Given the description of an element on the screen output the (x, y) to click on. 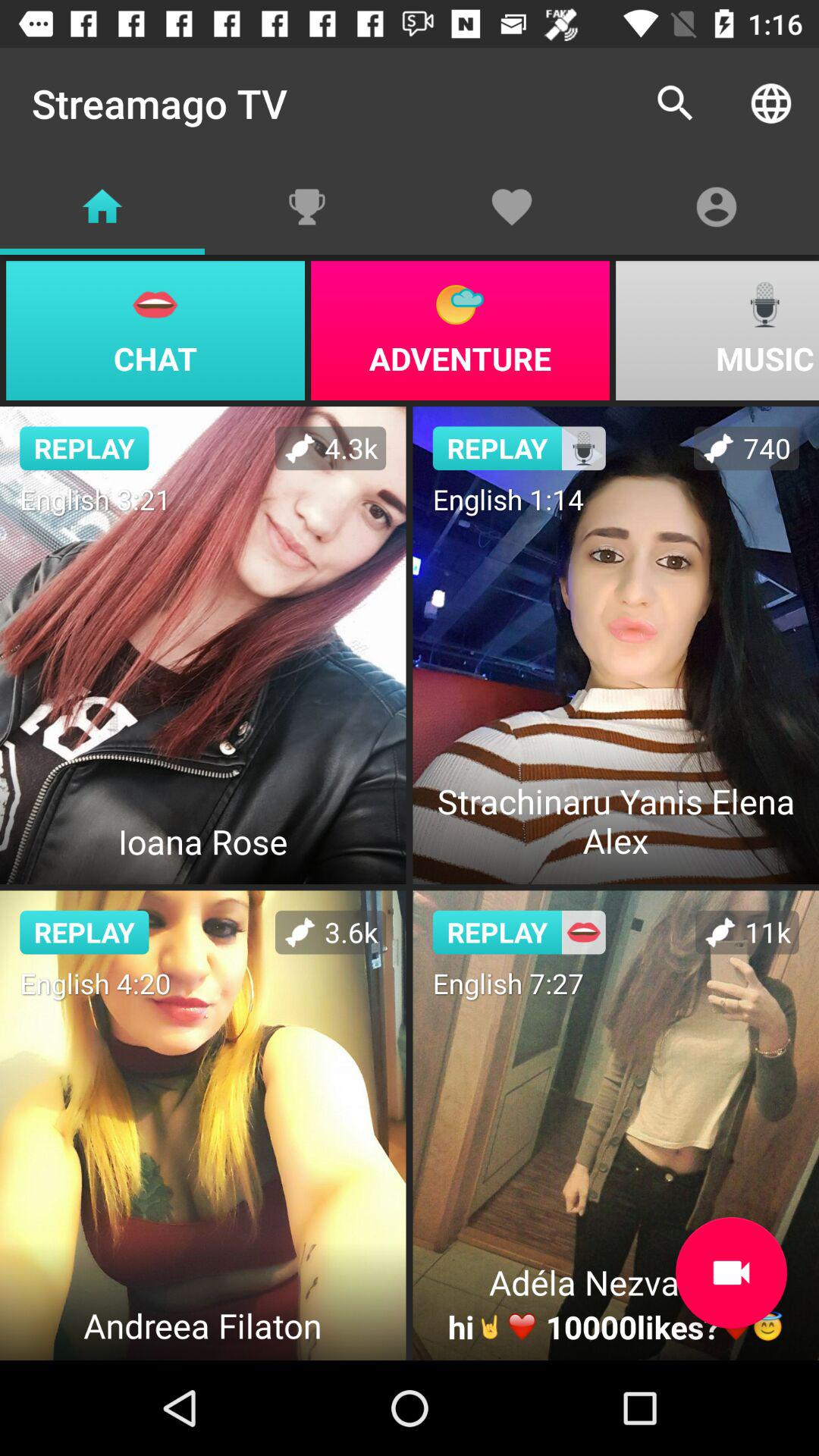
video record button (731, 1272)
